Given the description of an element on the screen output the (x, y) to click on. 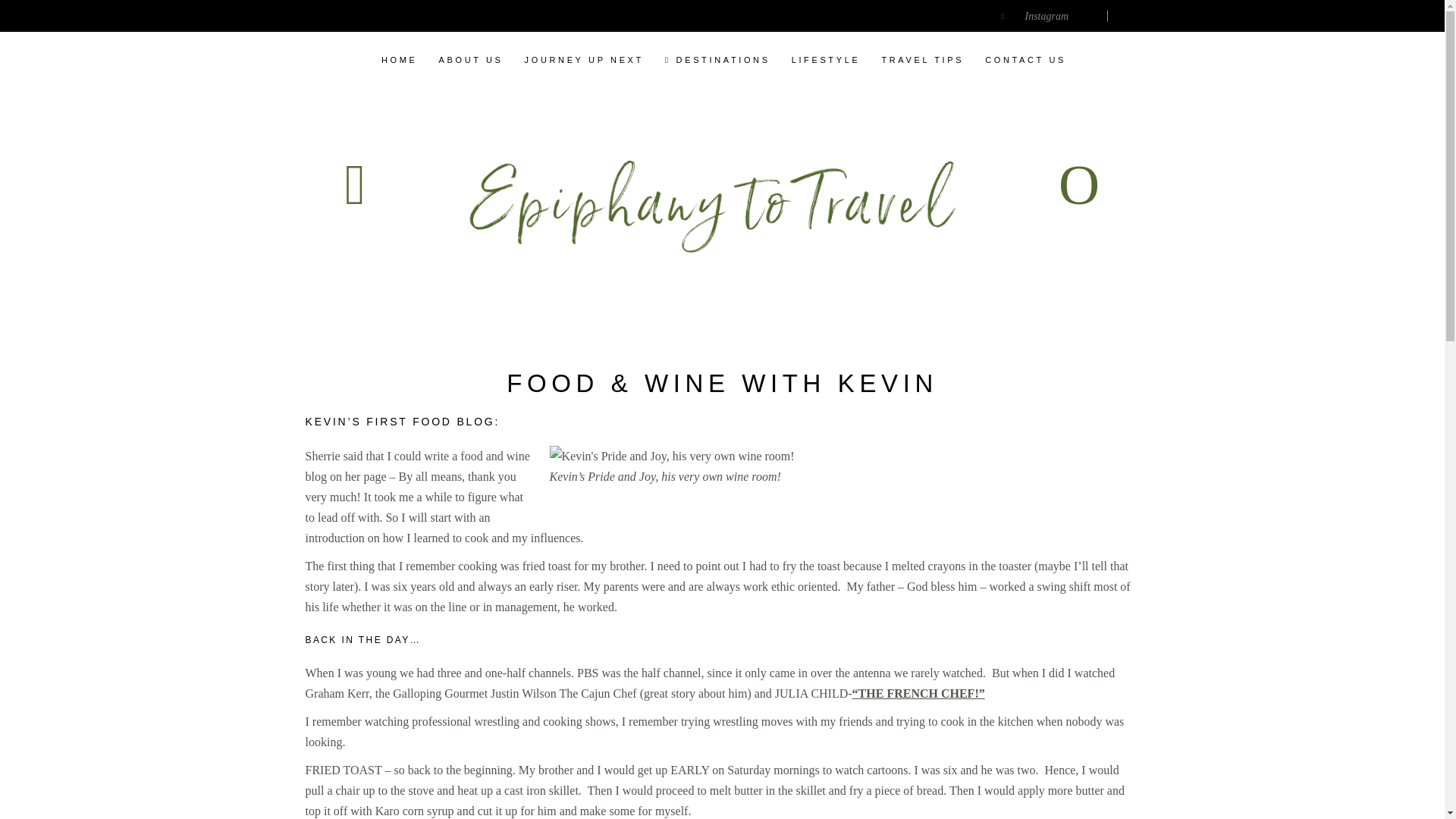
DESTINATIONS (716, 59)
HOME (399, 59)
JOURNEY UP NEXT (583, 59)
ABOUT US (470, 59)
